Given the description of an element on the screen output the (x, y) to click on. 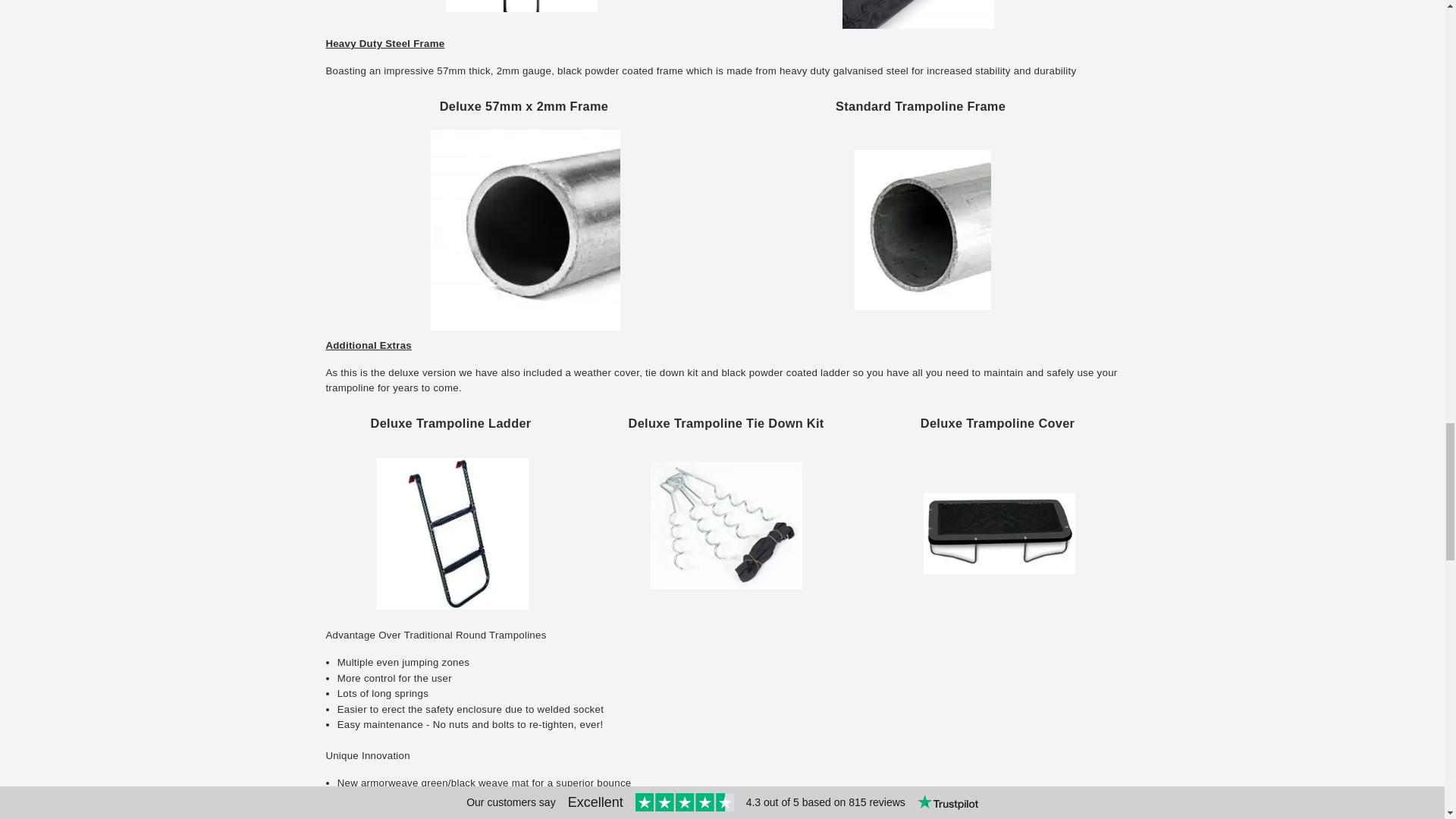
Deluxe PVC Pads (520, 6)
Standard Trampoline Pads (918, 14)
Deluxe 57mm Frame (525, 229)
